Given the description of an element on the screen output the (x, y) to click on. 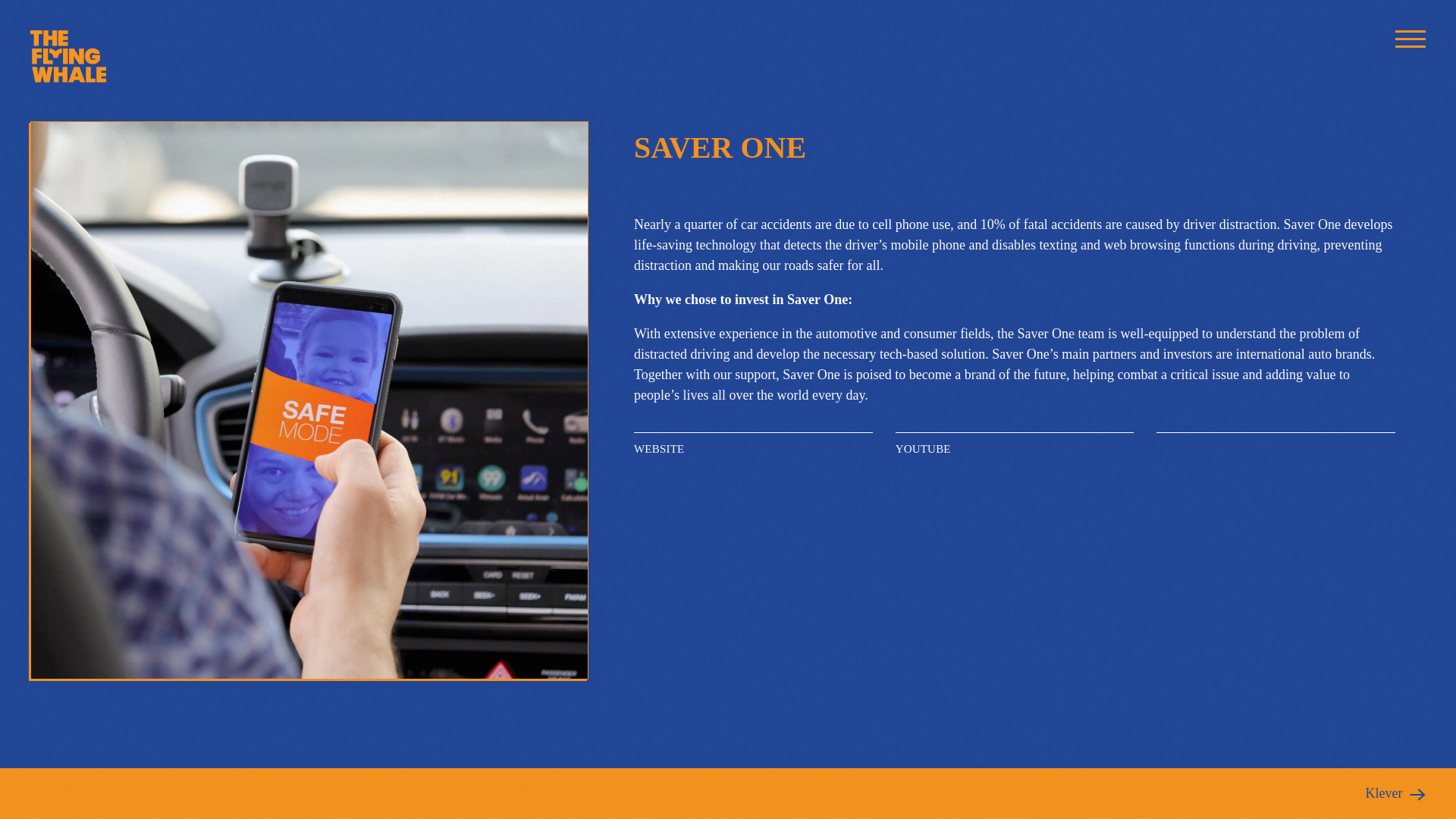
WEBSITE (752, 448)
YOUTUBE (1014, 448)
